Given the description of an element on the screen output the (x, y) to click on. 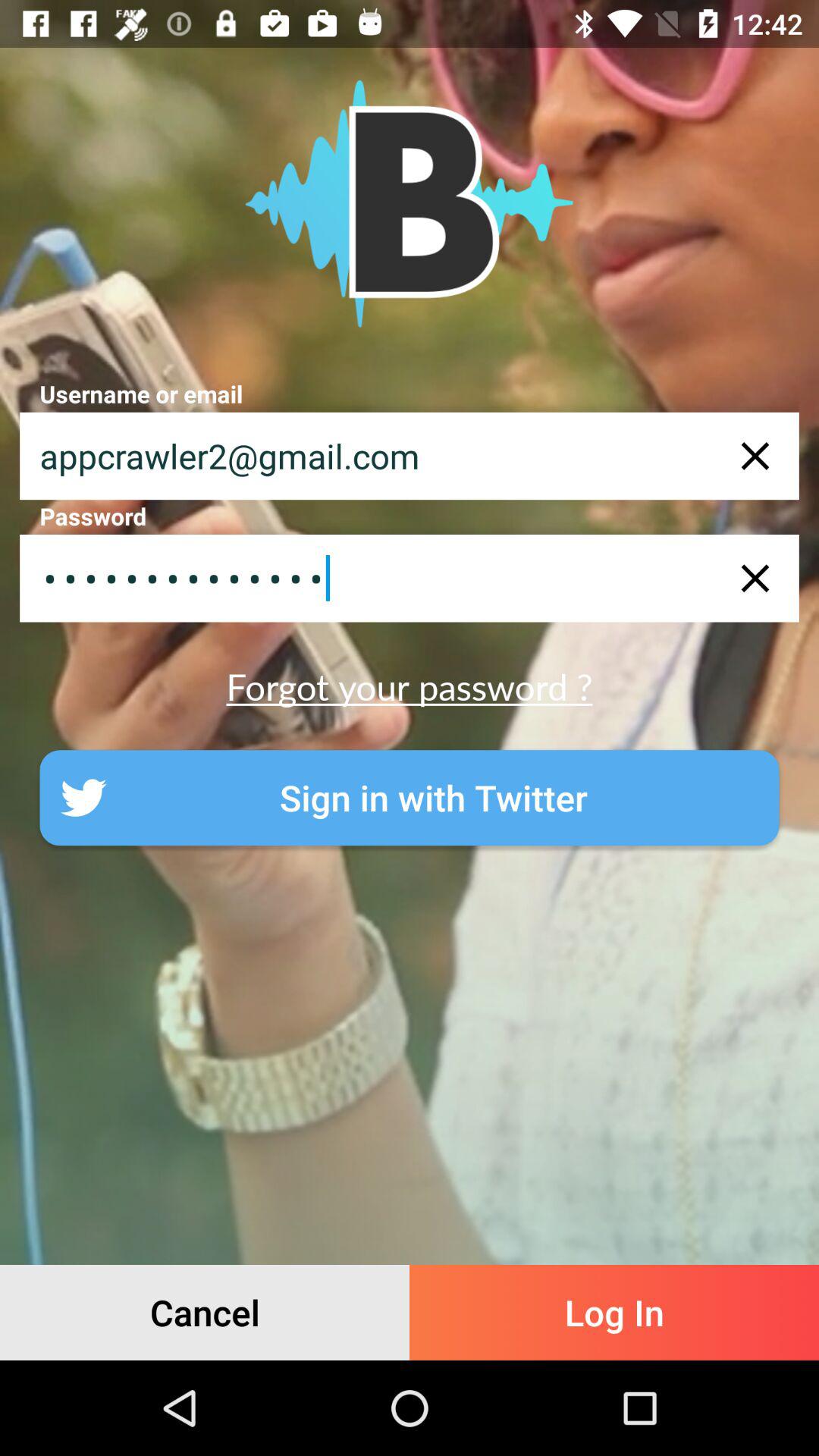
swipe to appcrawler2@gmail.com (409, 455)
